Given the description of an element on the screen output the (x, y) to click on. 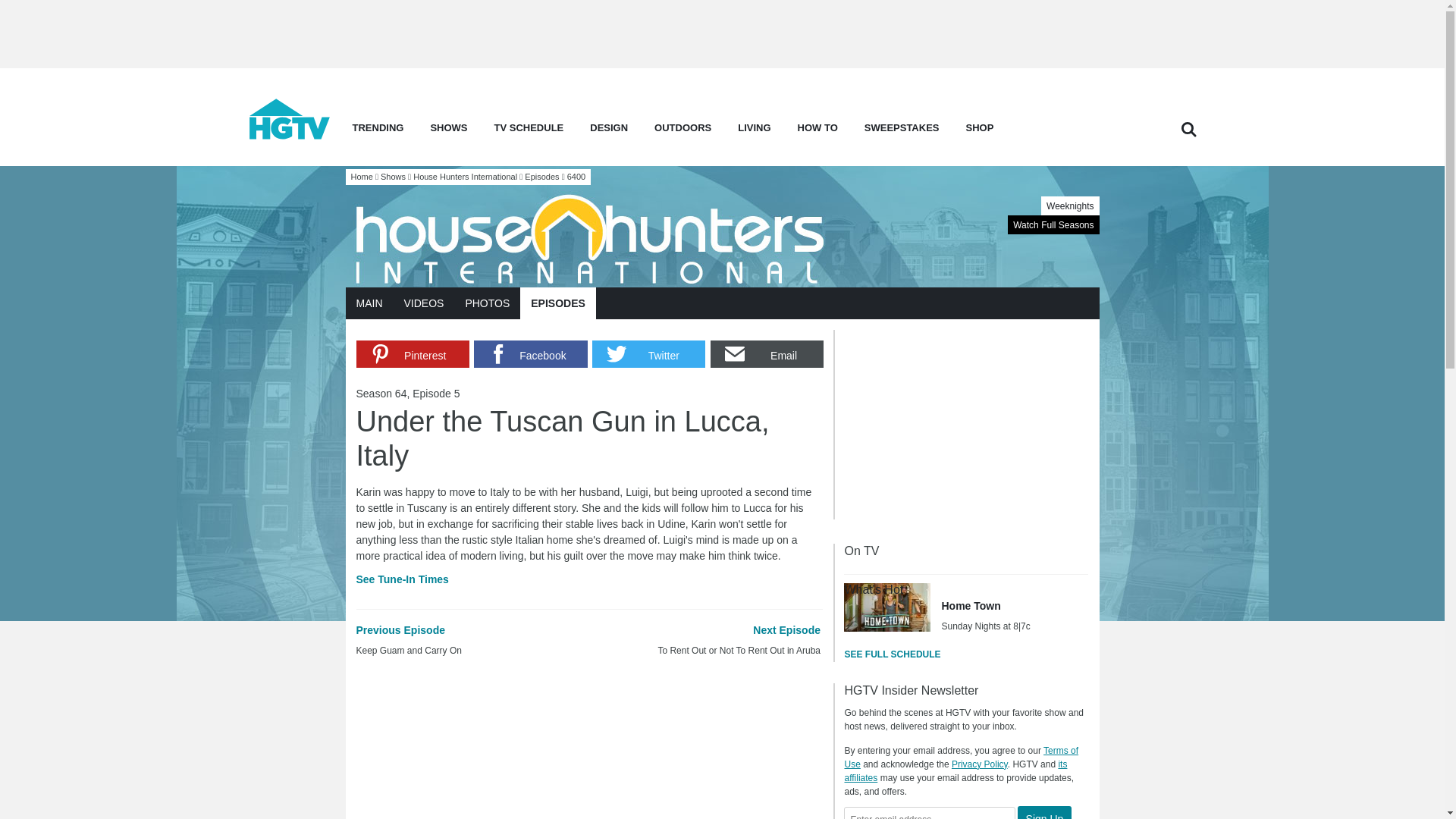
Share on Pinterest (412, 353)
home (289, 135)
Share on Twitter (648, 353)
Share by Email (767, 353)
Share on Facebook (530, 353)
Home Town (887, 607)
